Given the description of an element on the screen output the (x, y) to click on. 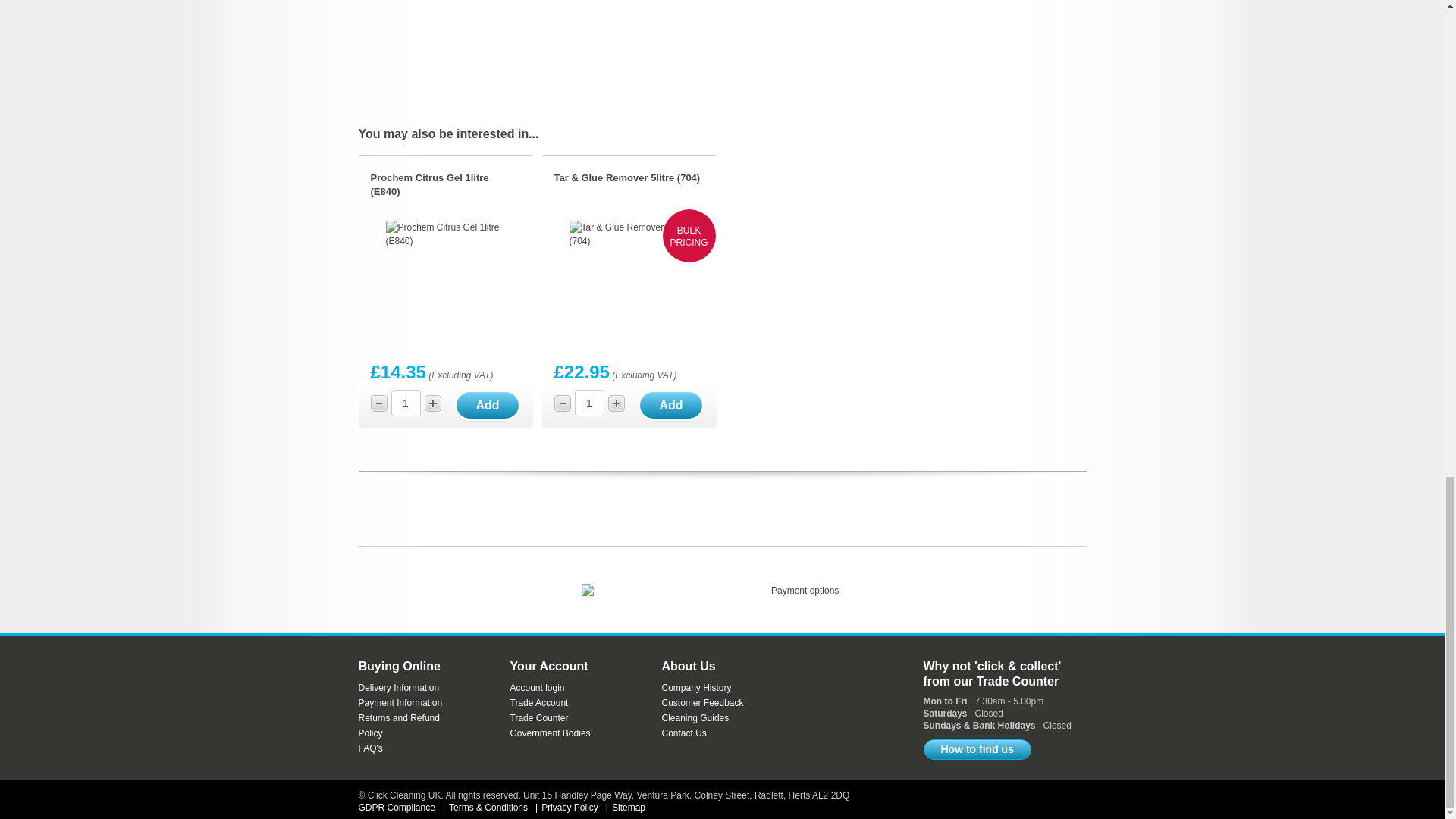
eCommerce web design (1059, 798)
1 (405, 402)
1 (589, 402)
